Given the description of an element on the screen output the (x, y) to click on. 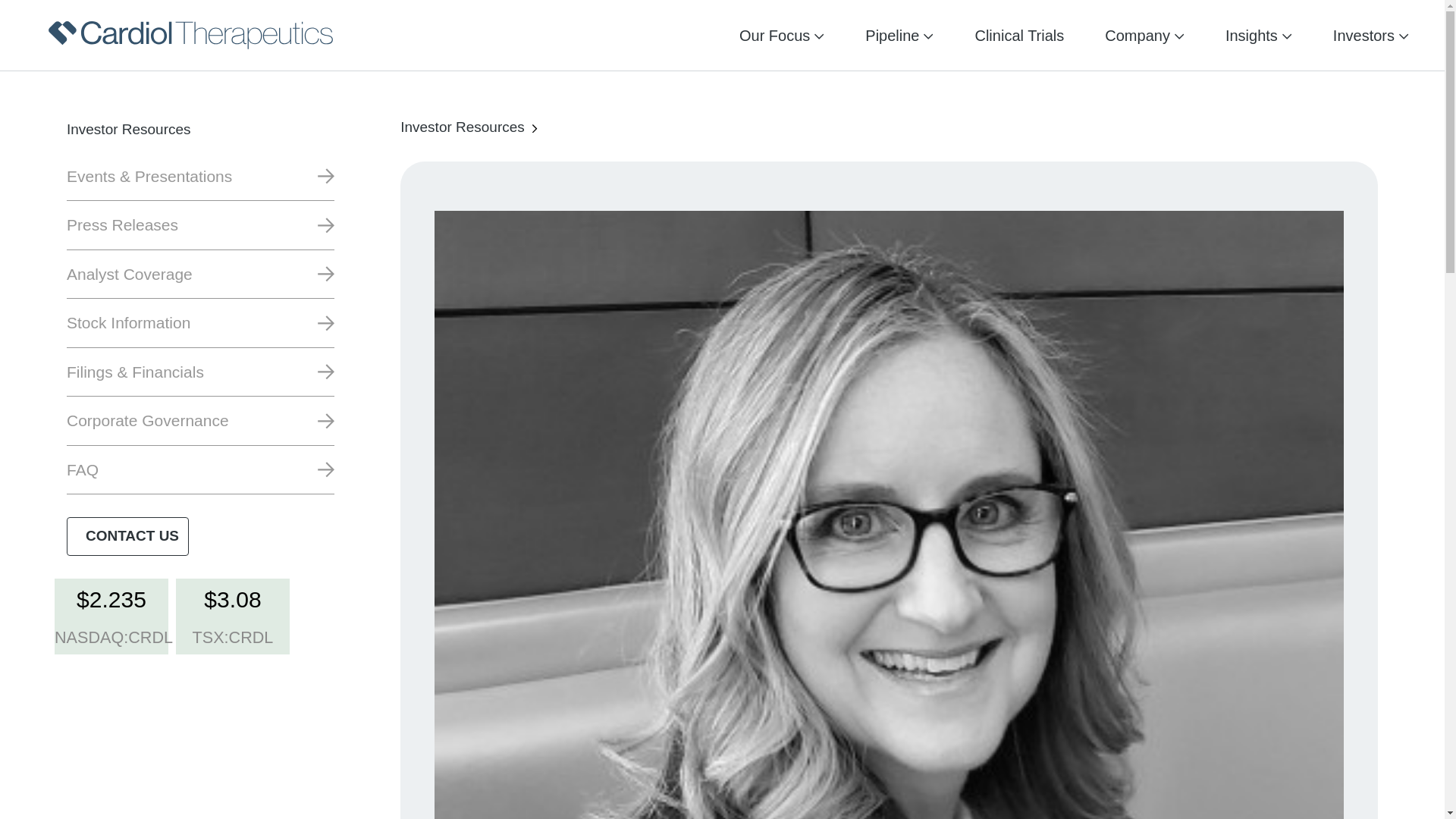
Pipeline (891, 35)
Company (1137, 35)
Press Releases (200, 224)
Our Focus (774, 35)
Clinical Trials (1019, 35)
CONTACT US (127, 535)
Insights (1251, 35)
Corporate Governance (200, 420)
Analyst Coverage (200, 274)
Cardiol Therapeutics (190, 35)
FAQ (200, 469)
Investors (1363, 35)
Stock Information (200, 322)
